Given the description of an element on the screen output the (x, y) to click on. 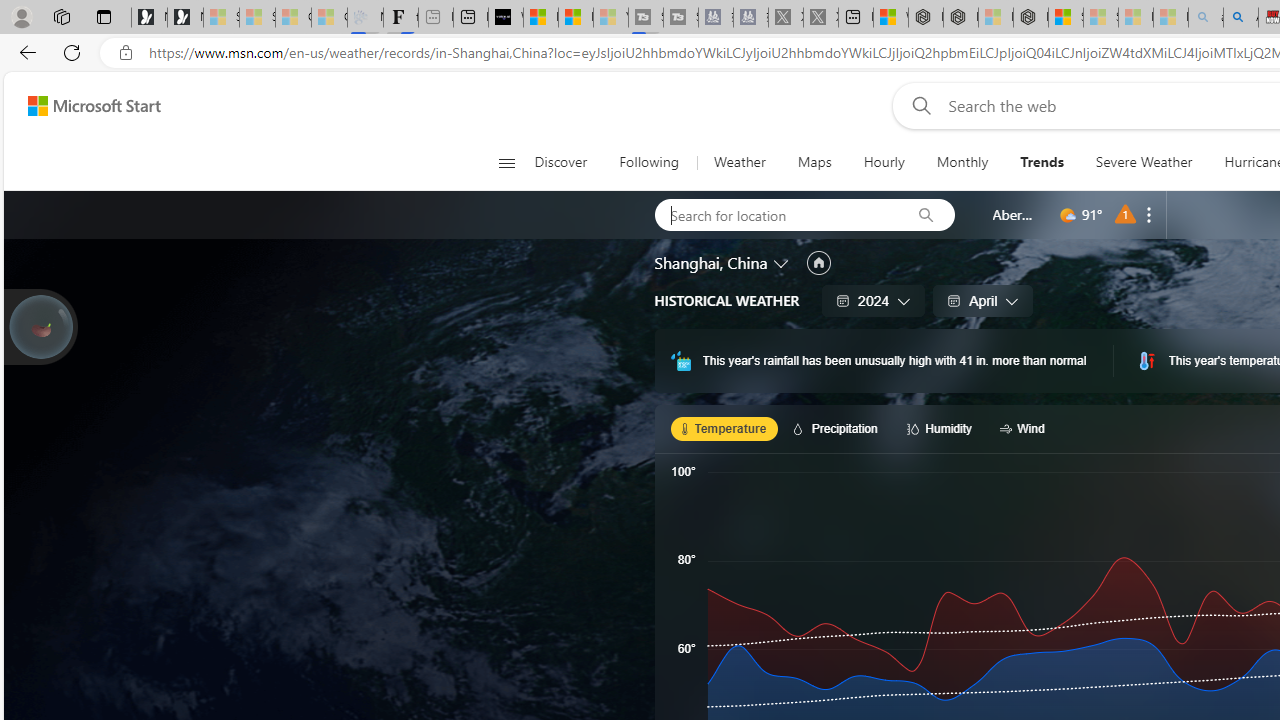
Search for location (776, 214)
Severe Weather (1144, 162)
Severe Weather (1143, 162)
Remove location (1149, 214)
Hourly (884, 162)
Newsletter Sign Up (185, 17)
Join us in planting real trees to help our planet! (40, 327)
